Given the description of an element on the screen output the (x, y) to click on. 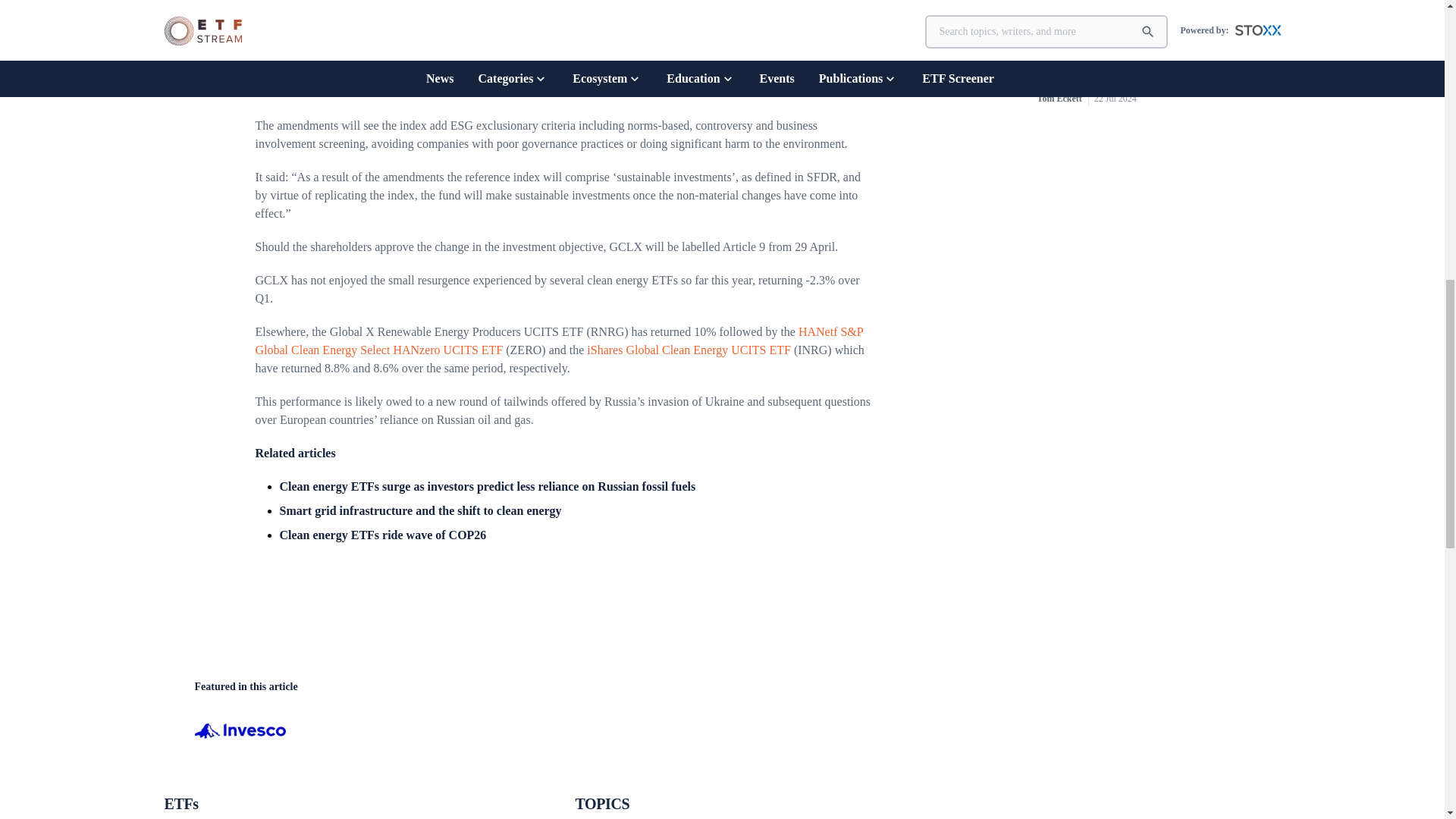
iShares Global Clean Energy UCITS ETF (688, 349)
Smart grid infrastructure and the shift to clean energy (419, 510)
Invesco Global Clean Energy UCITS ETF (557, 6)
Clean energy ETFs ride wave of COP26 (382, 534)
